Given the description of an element on the screen output the (x, y) to click on. 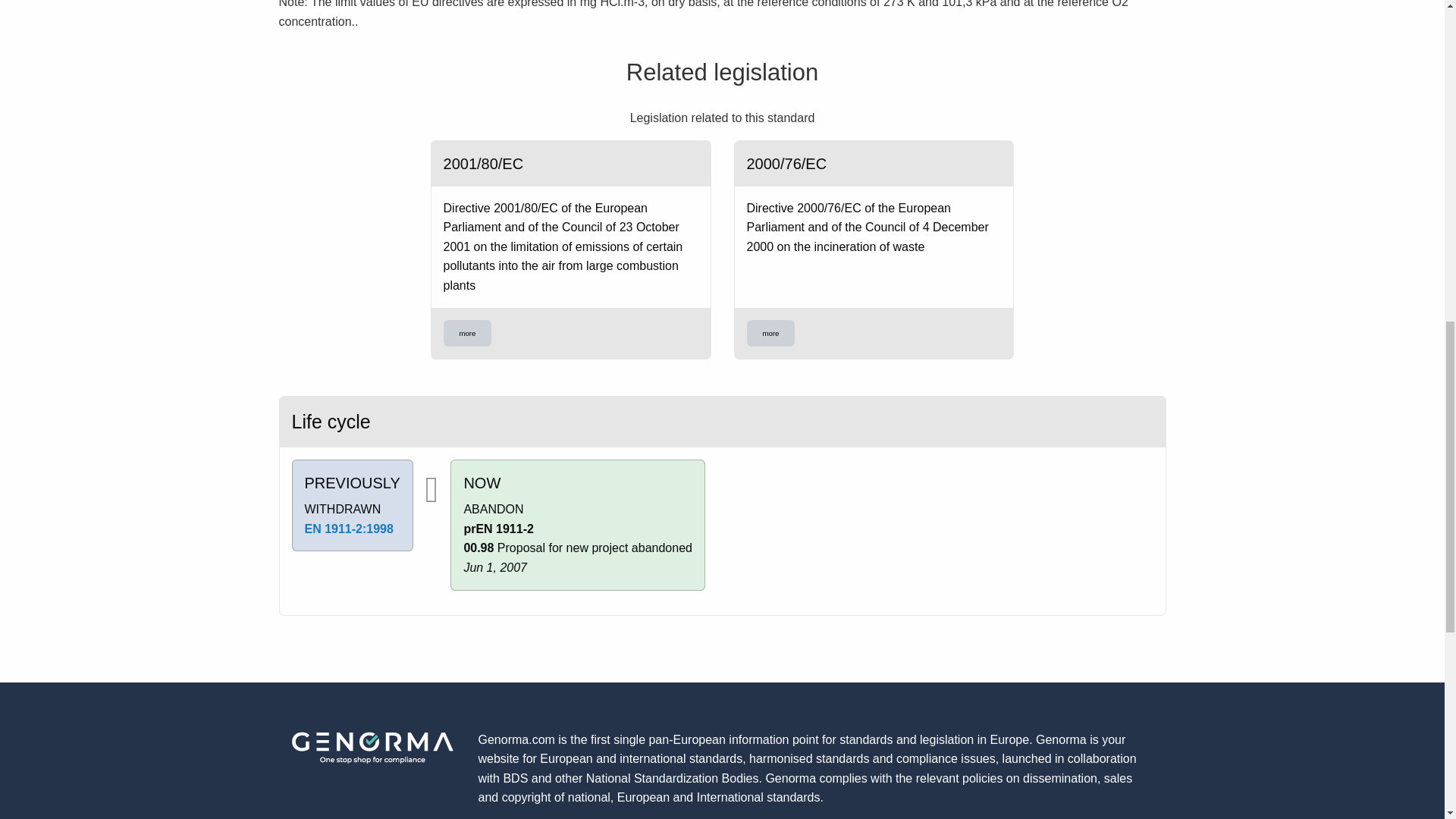
EN 1911-2:1998 (348, 528)
more (468, 333)
more (769, 333)
